Given the description of an element on the screen output the (x, y) to click on. 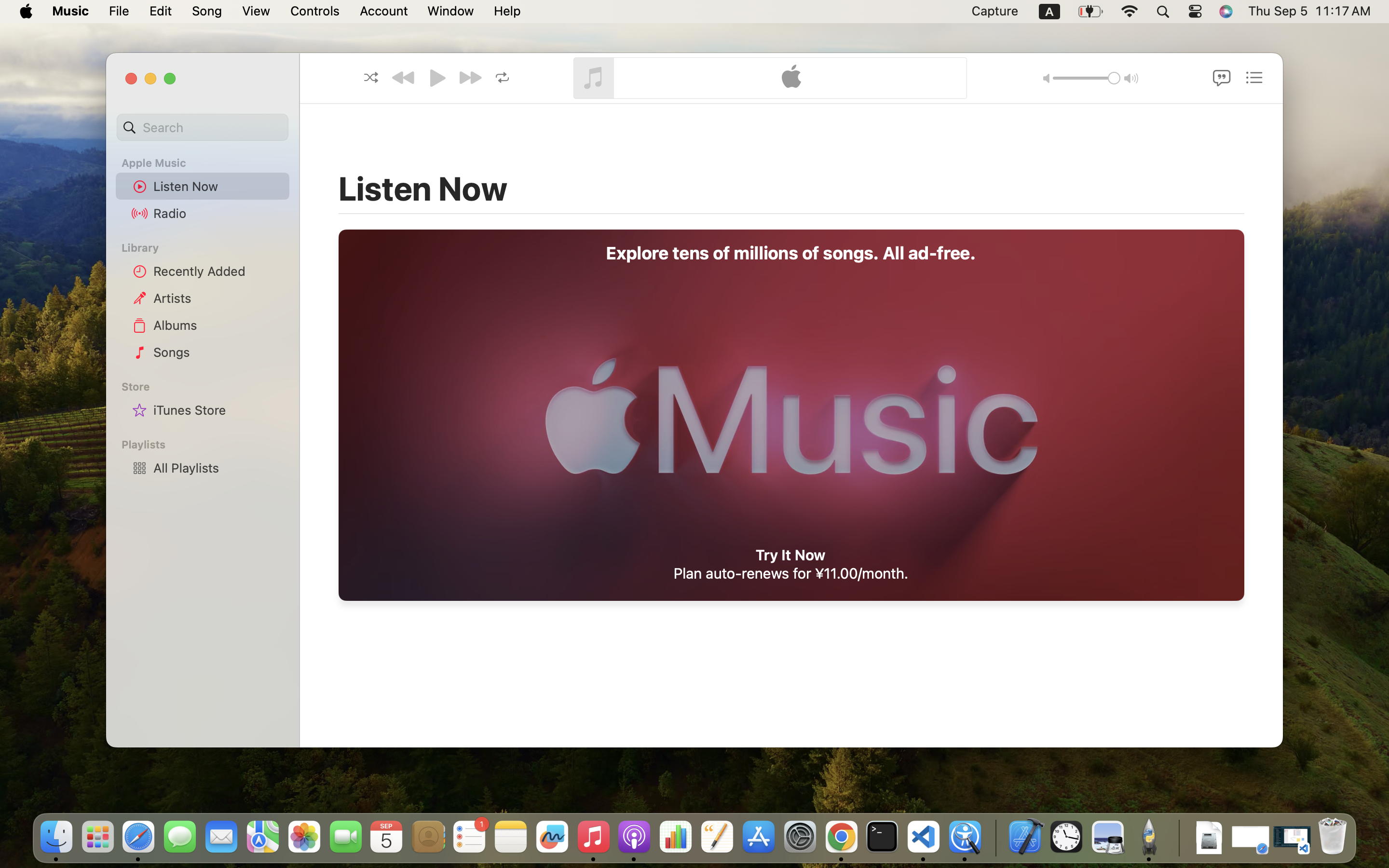
Radio Element type: AXStaticText (217, 212)
Store Element type: AXStaticText (208, 386)
Artists Element type: AXStaticText (217, 297)
Recently Added Element type: AXStaticText (217, 270)
Playlists Element type: AXStaticText (208, 444)
